Given the description of an element on the screen output the (x, y) to click on. 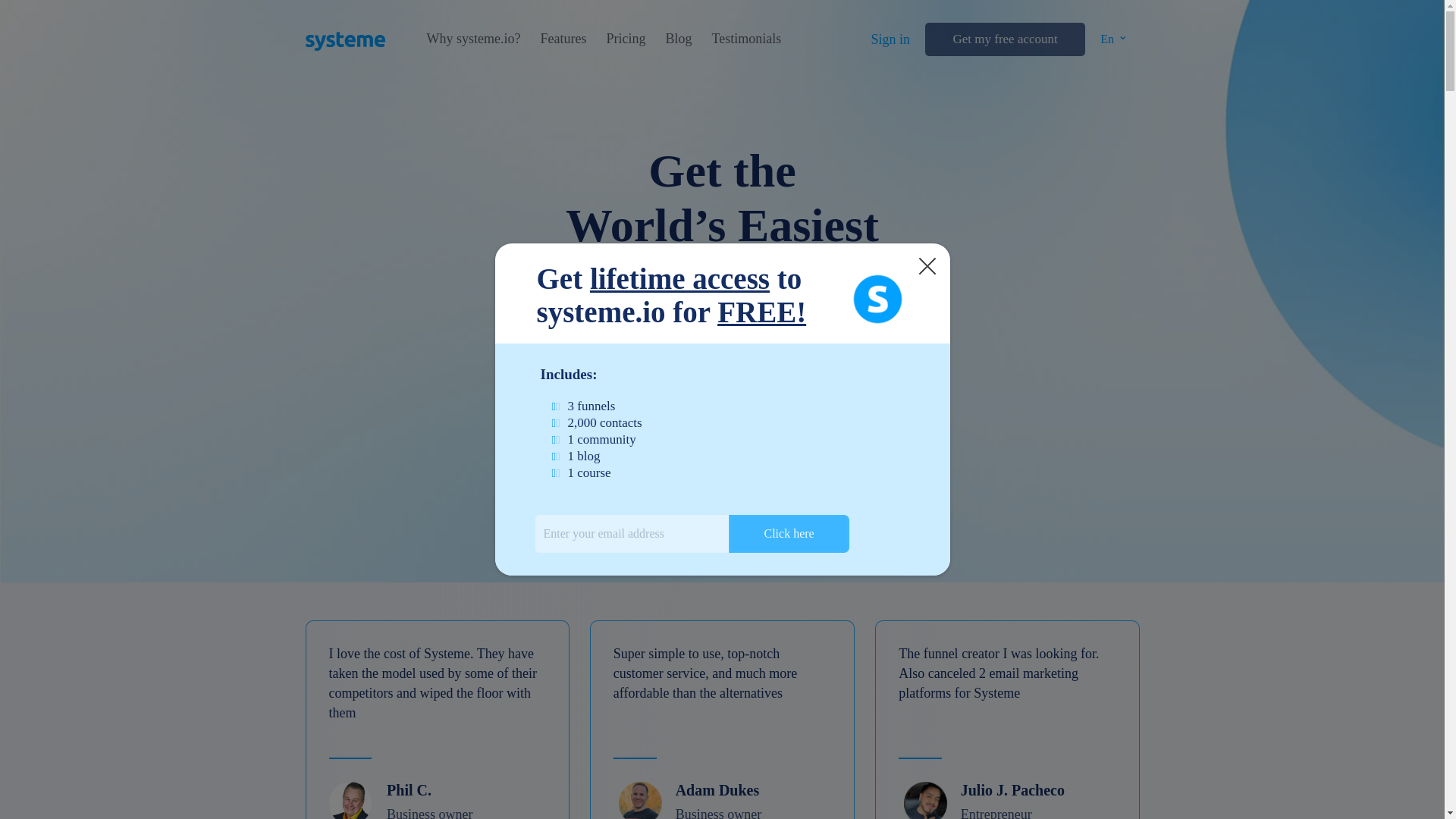
Sign in (890, 39)
Blog (678, 38)
Pricing (625, 38)
Features (563, 38)
Testimonials (745, 38)
Why systeme.io? (472, 38)
Get my free account (1004, 39)
